Given the description of an element on the screen output the (x, y) to click on. 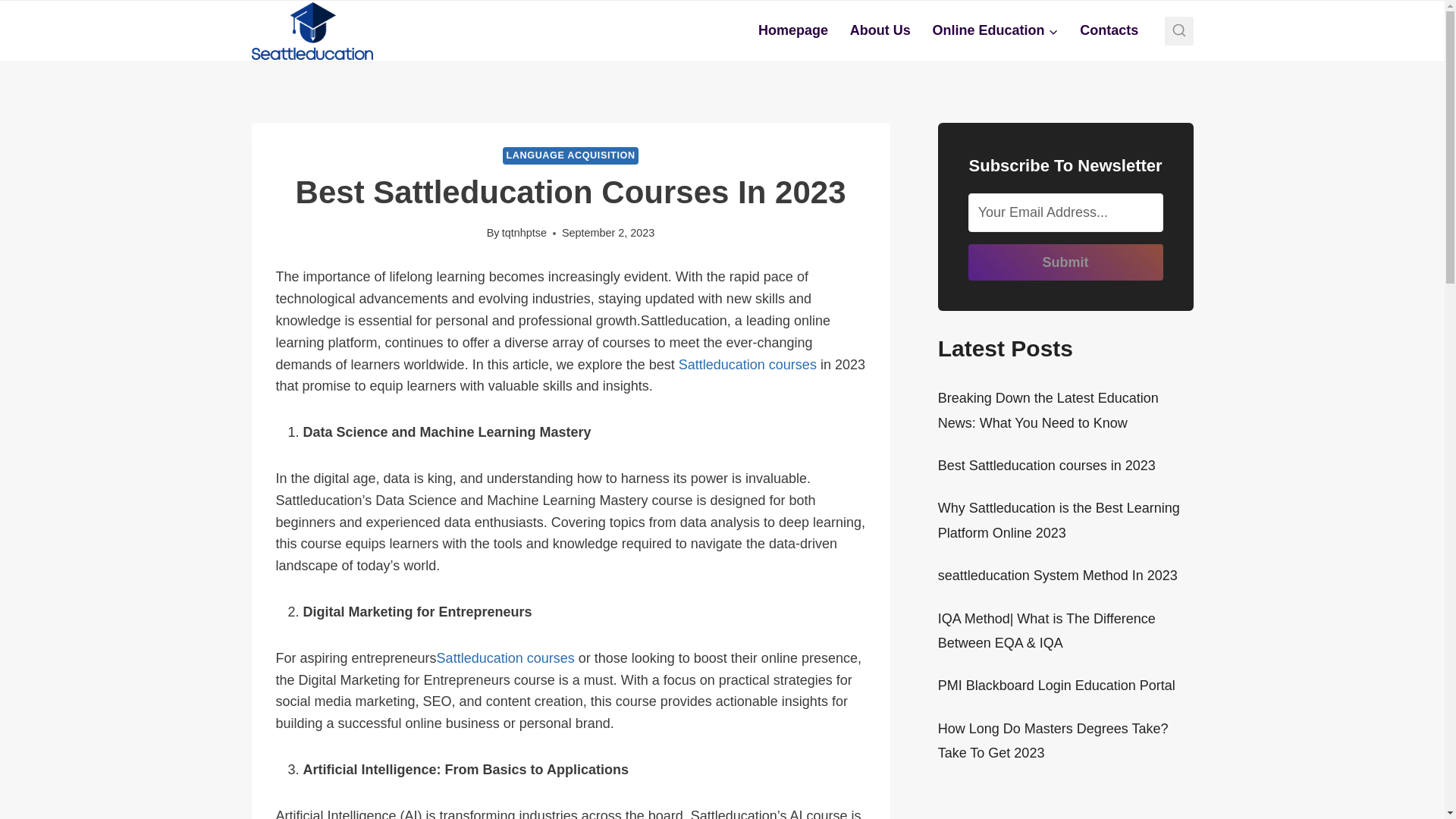
Homepage (794, 30)
tqtnhptse (524, 232)
Contacts (1109, 30)
Sattleducation courses (745, 364)
Sattleducation courses (505, 657)
Online Education (994, 30)
LANGUAGE ACQUISITION (569, 155)
About Us (879, 30)
